Given the description of an element on the screen output the (x, y) to click on. 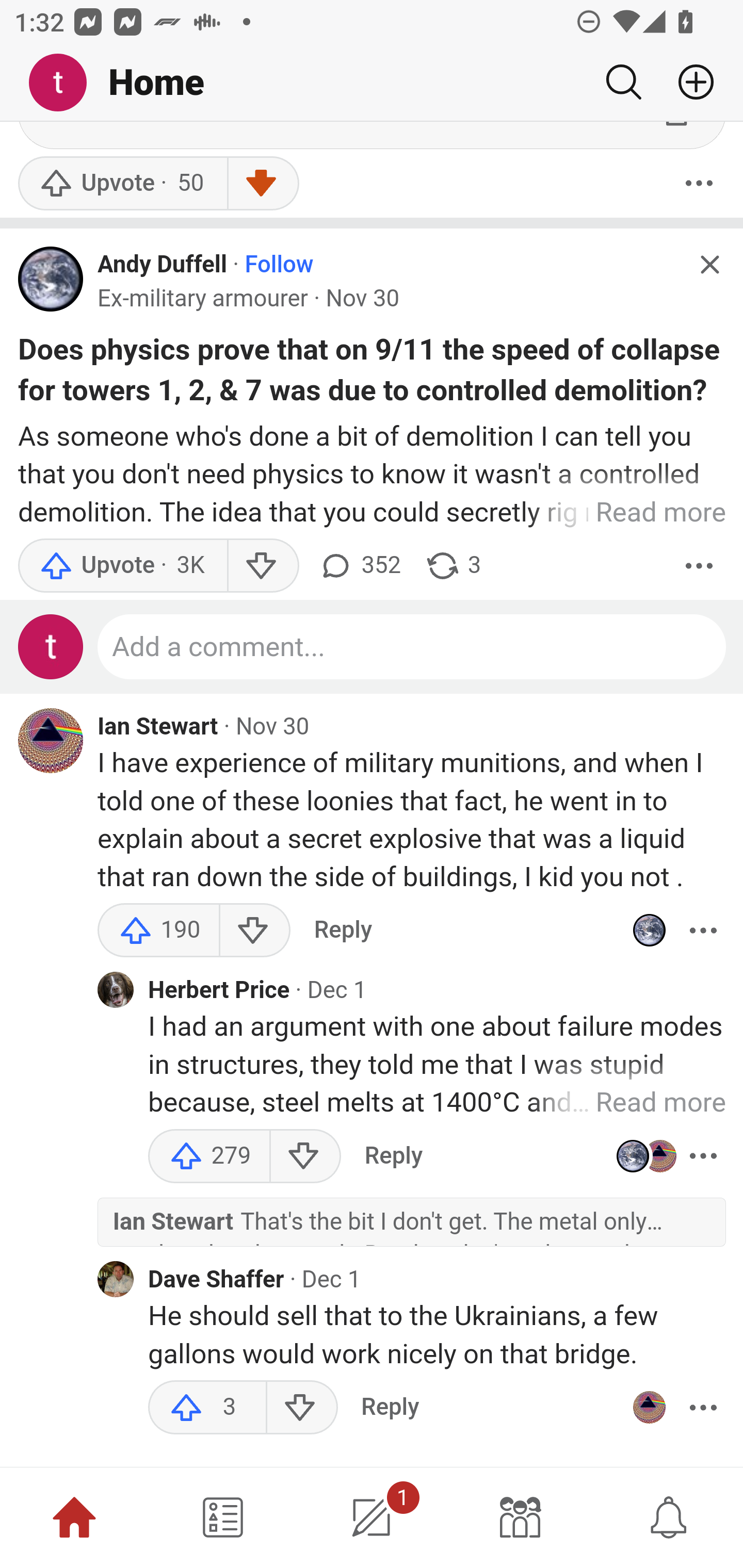
Me (64, 83)
Search (623, 82)
Add (688, 82)
Upvote (122, 184)
Downvote (262, 184)
More (699, 184)
Hide (709, 267)
Profile photo for Andy Duffell (50, 280)
Andy Duffell (162, 266)
Follow (278, 266)
Upvote (122, 566)
Downvote (262, 566)
352 comments (359, 566)
3 shares (452, 566)
More (699, 566)
Profile photo for Test Appium (50, 648)
Add a comment... (412, 648)
Profile photo for Ian Stewart (50, 742)
Ian Stewart (157, 728)
190 upvotes (158, 932)
Downvote (253, 932)
Reply (342, 932)
Profile photo for Andy Duffell (648, 932)
More (703, 932)
Profile photo for Herbert Price (115, 991)
Herbert Price (218, 992)
279 upvotes (209, 1156)
Downvote (304, 1156)
Reply (393, 1156)
More (703, 1156)
Profile photo for Dave Shaffer (115, 1280)
Dave Shaffer (216, 1280)
3 upvotes (207, 1409)
Downvote (302, 1409)
Reply (389, 1409)
Profile photo for Ian Stewart (648, 1409)
More (703, 1409)
1 (371, 1517)
